Given the description of an element on the screen output the (x, y) to click on. 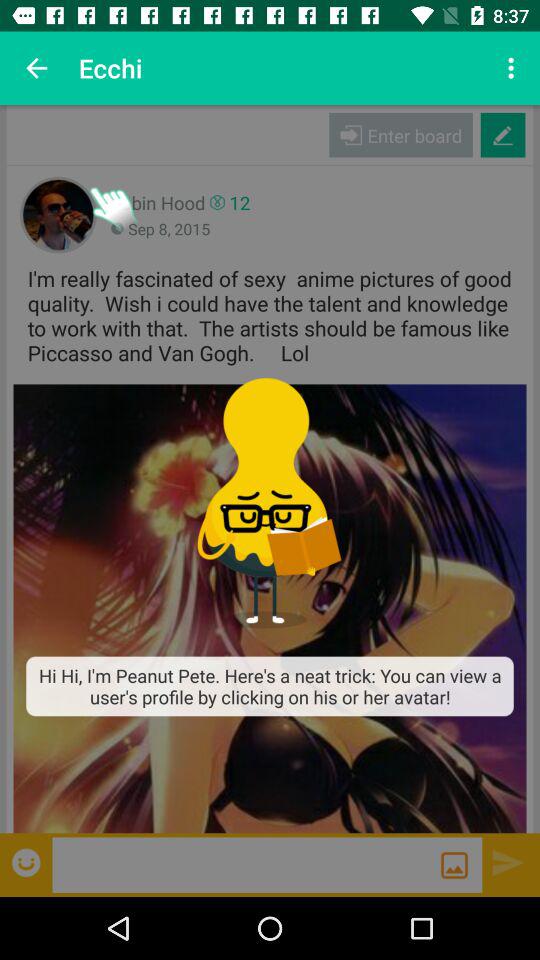
press item at the bottom left corner (28, 862)
